Given the description of an element on the screen output the (x, y) to click on. 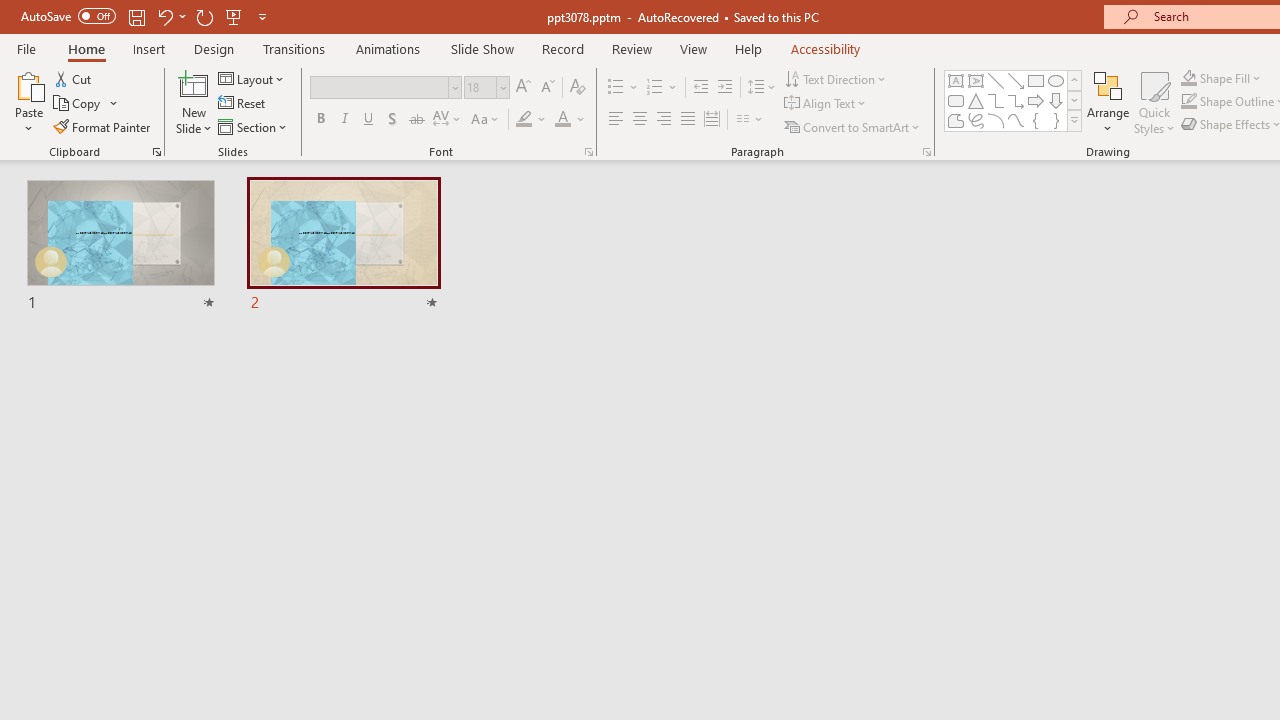
Reset (243, 103)
Format Painter (103, 126)
Cut (73, 78)
Increase Font Size (522, 87)
Curve (1016, 120)
Bullets (623, 87)
Distributed (712, 119)
Line Spacing (762, 87)
Accessibility (825, 48)
Home (86, 48)
Save (136, 15)
AutomationID: ShapesInsertGallery (1014, 100)
Numbering (661, 87)
View (693, 48)
Increase Indent (725, 87)
